Given the description of an element on the screen output the (x, y) to click on. 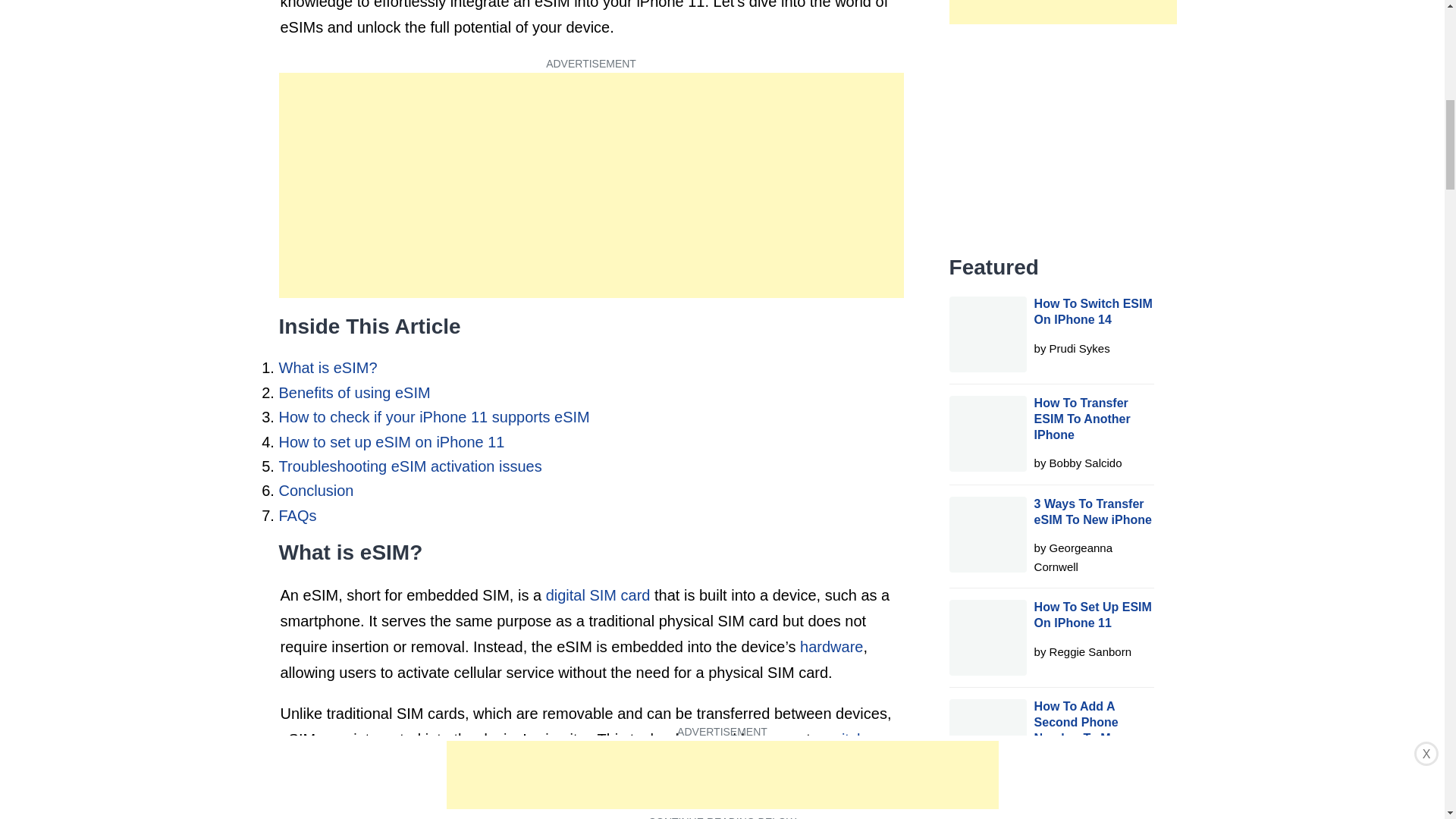
digital SIM card (598, 595)
switch (843, 739)
hardware (831, 646)
